Given the description of an element on the screen output the (x, y) to click on. 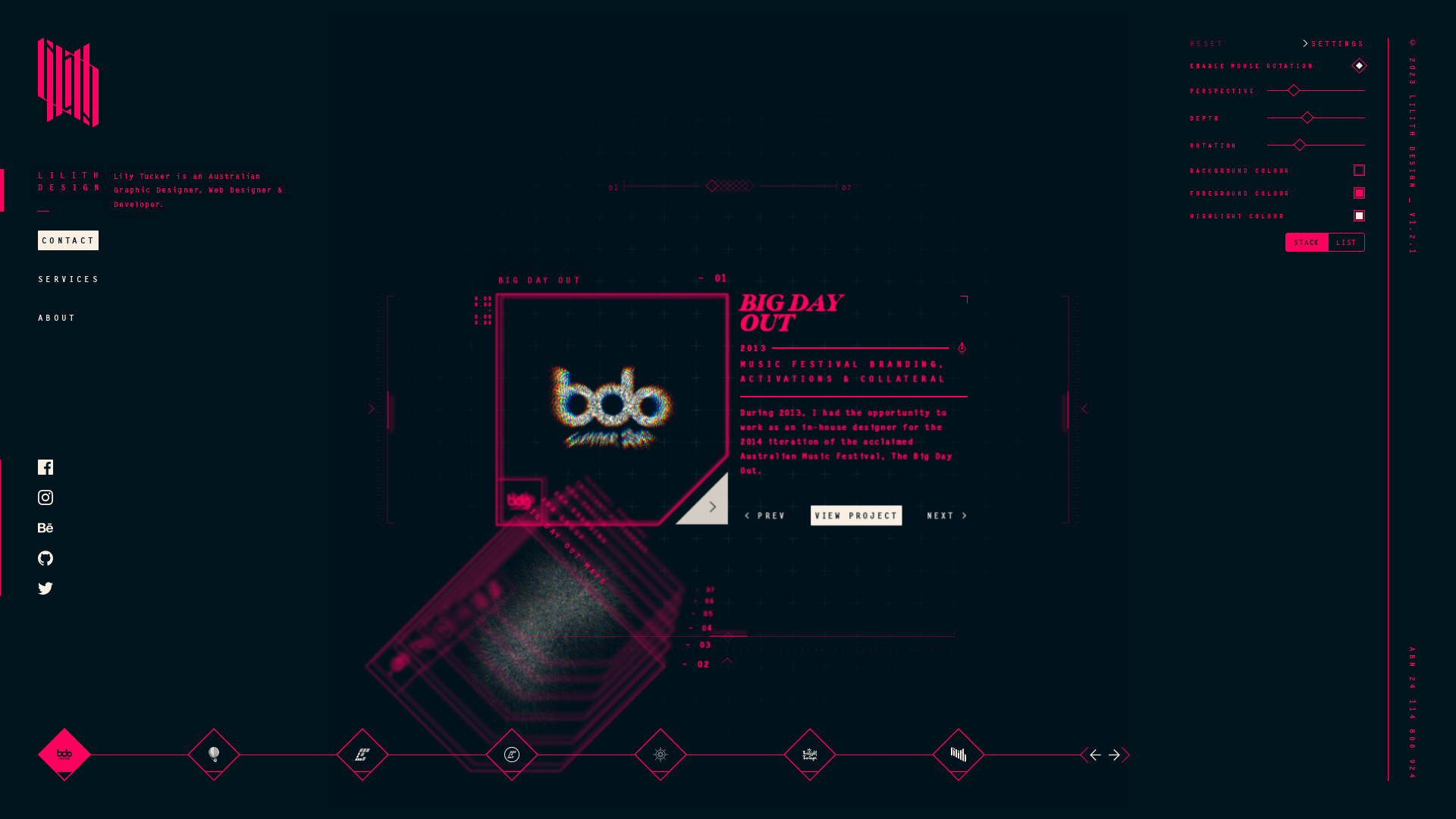
ABOUT Element type: text (67, 317)
Lilith Design's github profile Element type: hover (45, 557)
Lilith Design's twitter profile Element type: hover (45, 588)
view project Element type: text (700, 497)
Go Home Element type: hover (67, 83)
SETTINGS Element type: text (1333, 42)
STACK Element type: text (1306, 241)
LIST Element type: text (1346, 241)
VIEW PROJECT Element type: text (855, 515)
SERVICES Element type: text (67, 278)
RESET Element type: text (1206, 42)
CONTACT Element type: text (67, 240)
< PREV Element type: text (764, 515)
NEXT > Element type: text (946, 515)
Previous Project Element type: text (1093, 754)
Next Project Element type: text (1115, 754)
VIEW PROJECT Element type: text (855, 515)
Lilith Design's behance profile Element type: hover (45, 527)
Lilith Design's facebook profile Element type: hover (45, 466)
Lilith Design's instagram profile Element type: hover (45, 497)
